Given the description of an element on the screen output the (x, y) to click on. 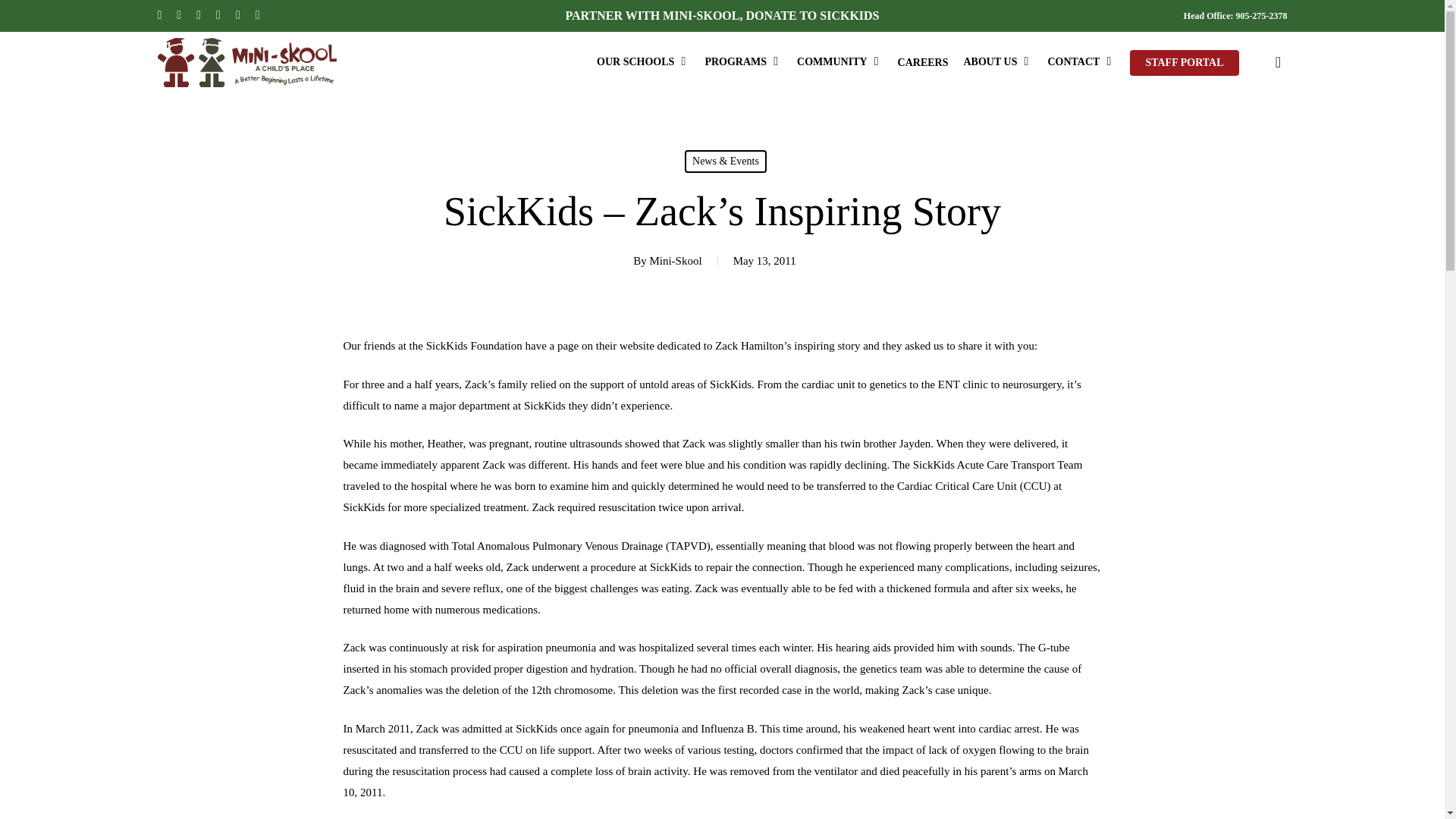
PROGRAMS (743, 61)
ABOUT US (997, 61)
About Mini-Skool (997, 61)
CAREERS (922, 62)
PARTNER WITH MINI-SKOOL, DONATE TO SICKKIDS (721, 15)
Contact Mini-Skool (1080, 61)
Posts by Mini-Skool (675, 260)
Community (839, 61)
Programs (743, 61)
COMMUNITY (839, 61)
OUR SCHOOLS (643, 61)
Head Office: 905-275-2378 (1235, 15)
